Given the description of an element on the screen output the (x, y) to click on. 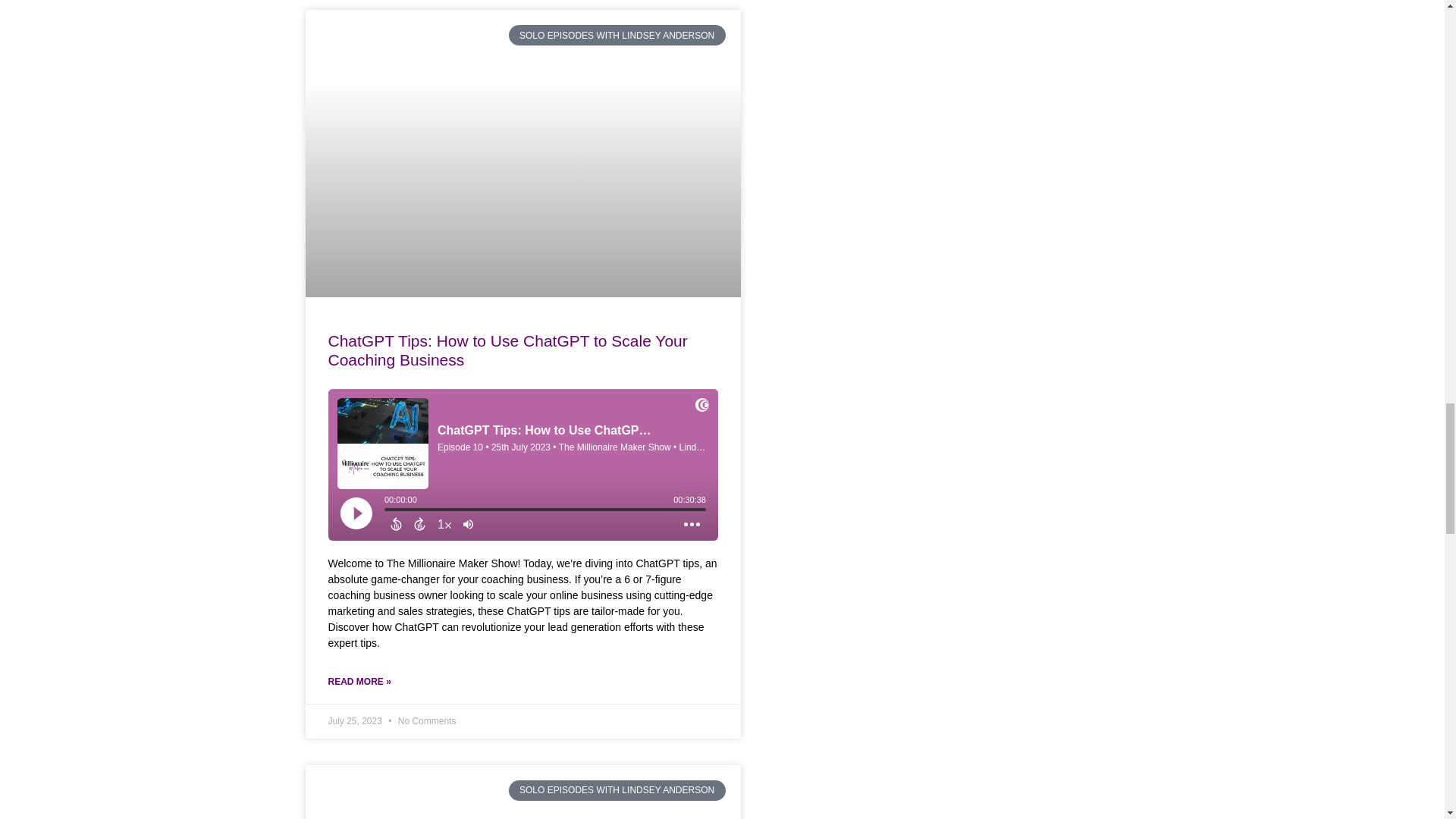
Website Thumbnail The Millionaire Maker Podcast 1 1 BLOG (518, 790)
